Given the description of an element on the screen output the (x, y) to click on. 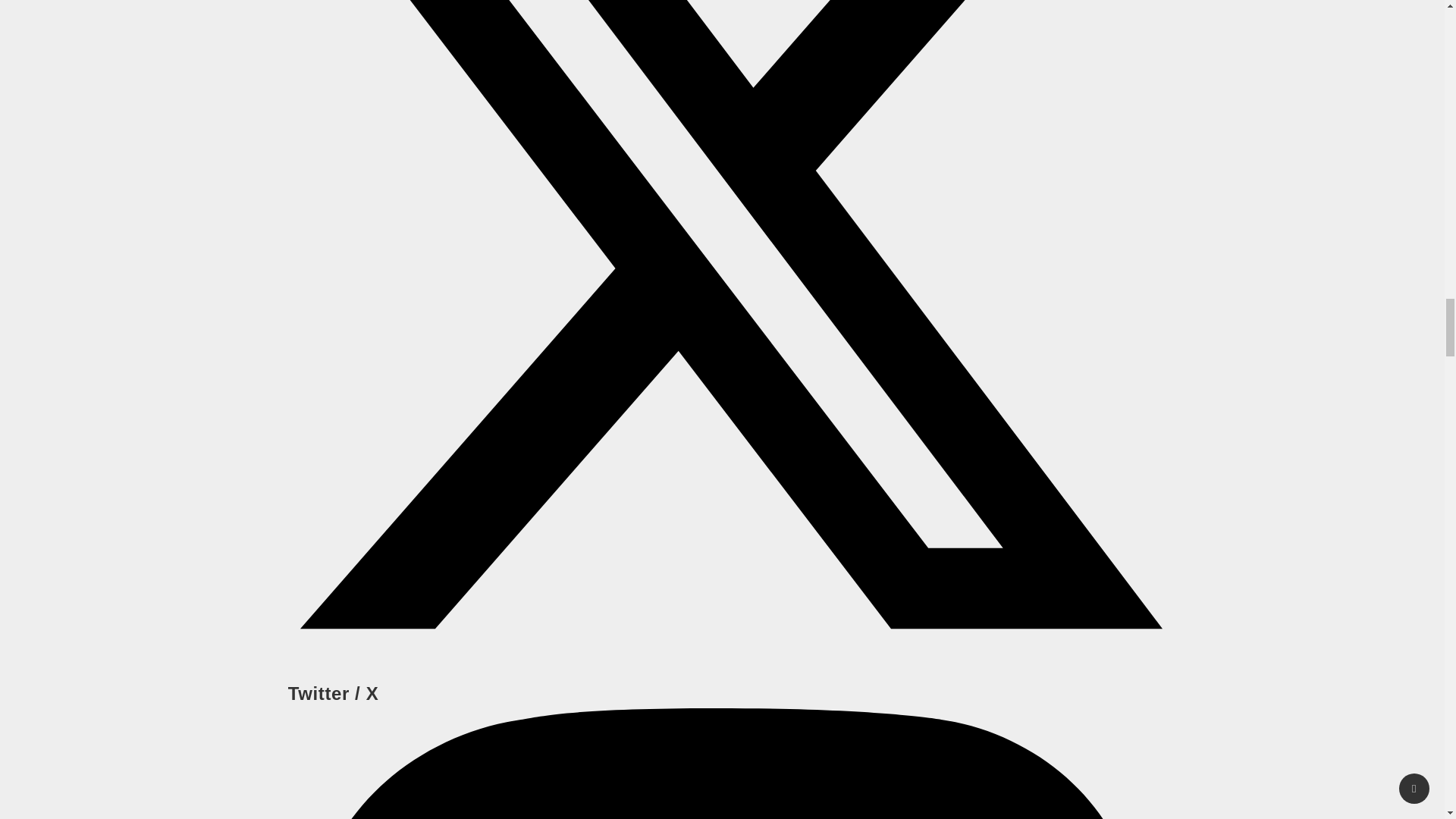
Mastodon (721, 763)
